Given the description of an element on the screen output the (x, y) to click on. 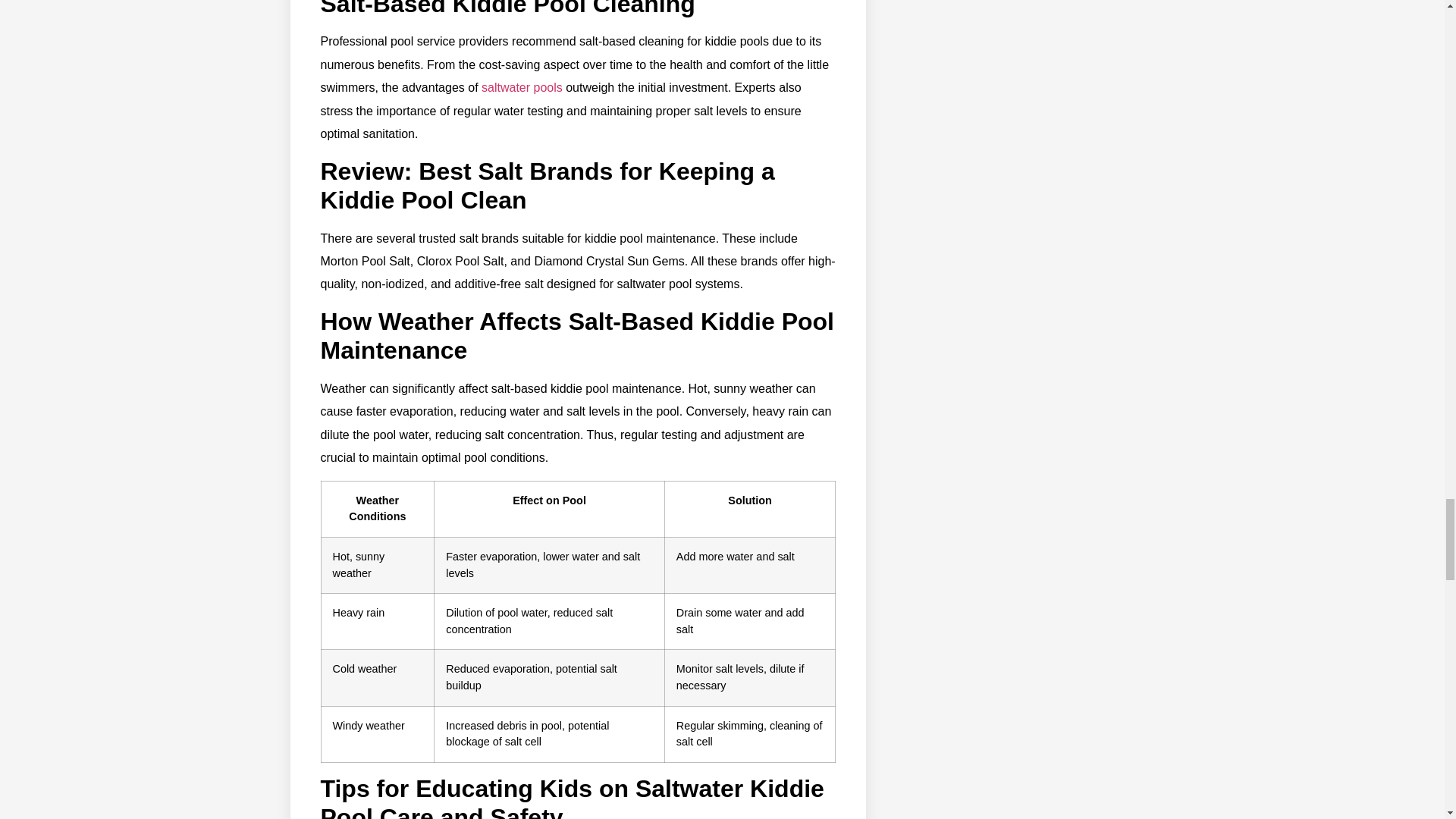
saltwater pools (521, 87)
